Given the description of an element on the screen output the (x, y) to click on. 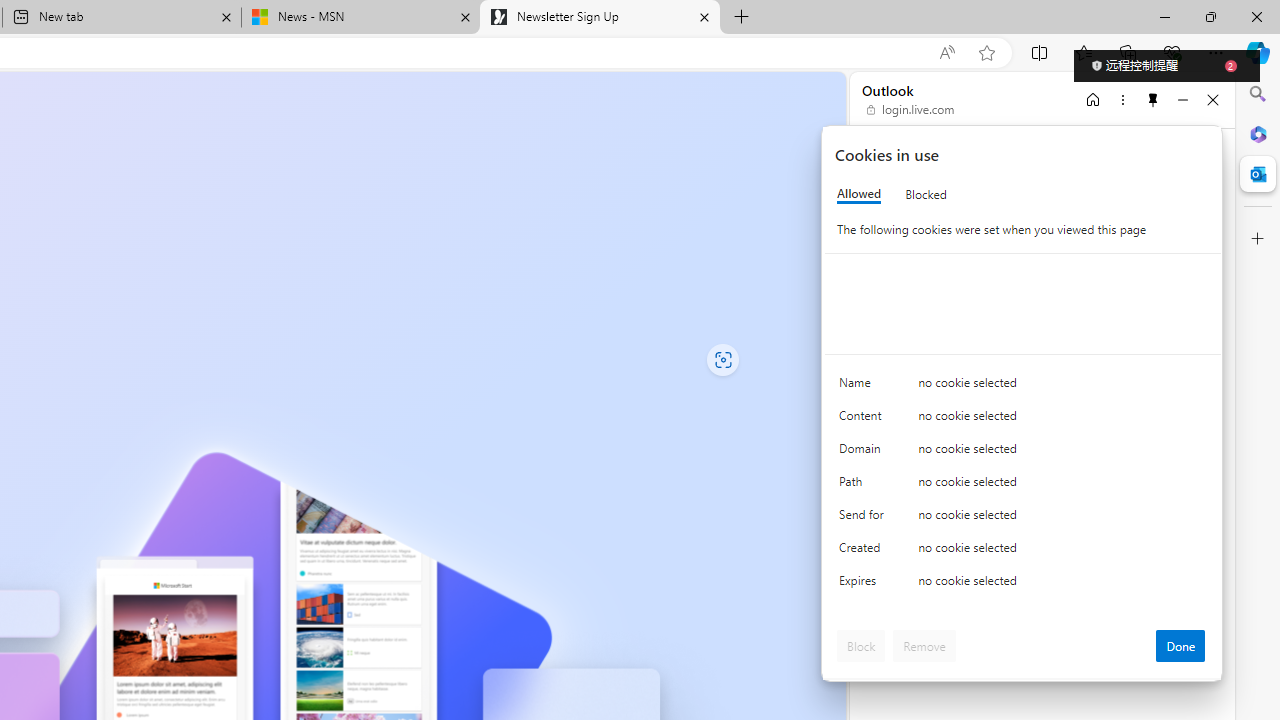
News - MSN (360, 17)
Block (861, 645)
login.live.com (911, 110)
Class: c0153 c0157 c0154 (1023, 386)
Content (864, 420)
